Given the description of an element on the screen output the (x, y) to click on. 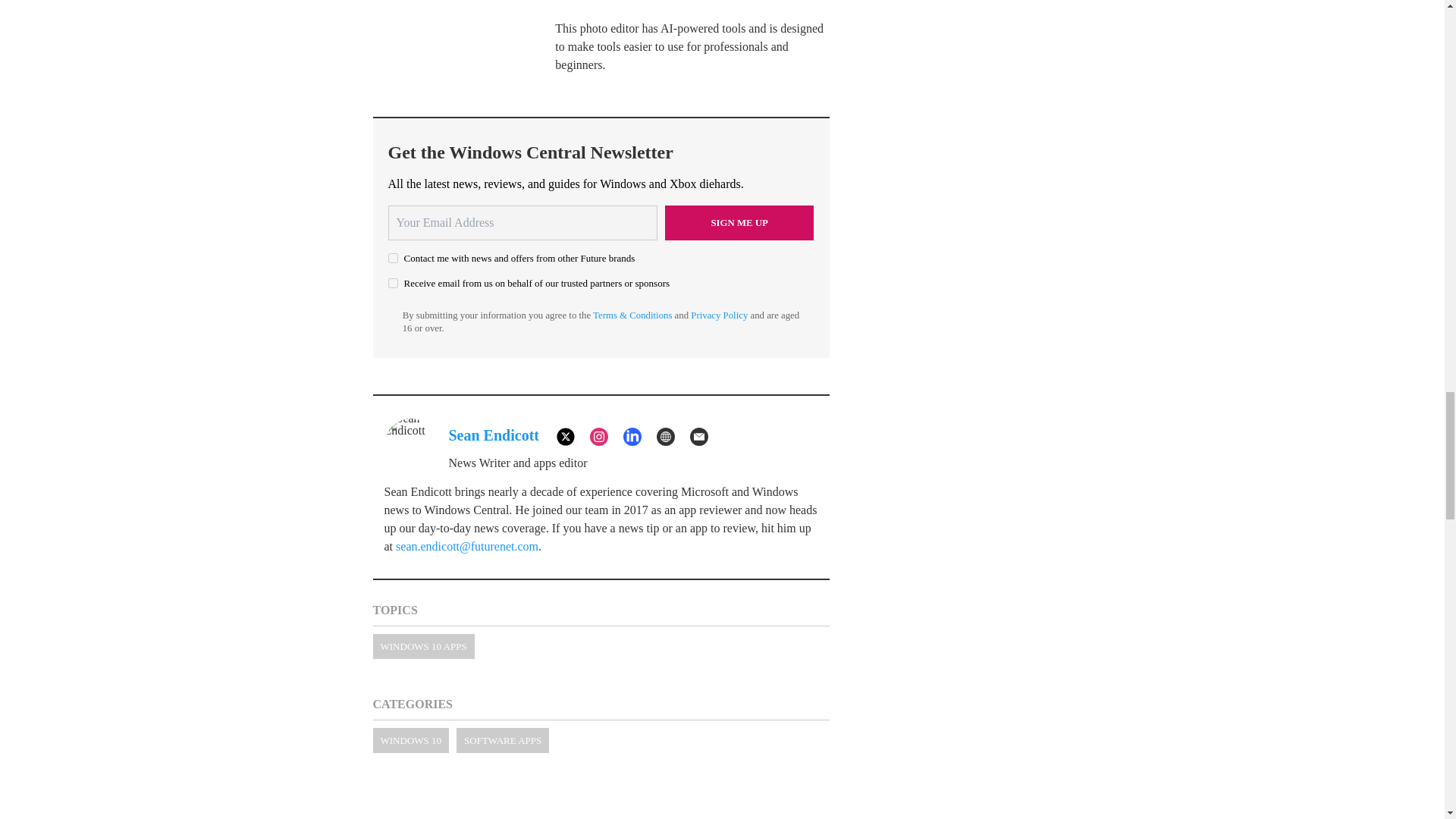
Sean Endicott (493, 434)
Sign me up (739, 222)
on (392, 283)
Privacy Policy (719, 315)
on (392, 257)
Sign me up (739, 222)
